Given the description of an element on the screen output the (x, y) to click on. 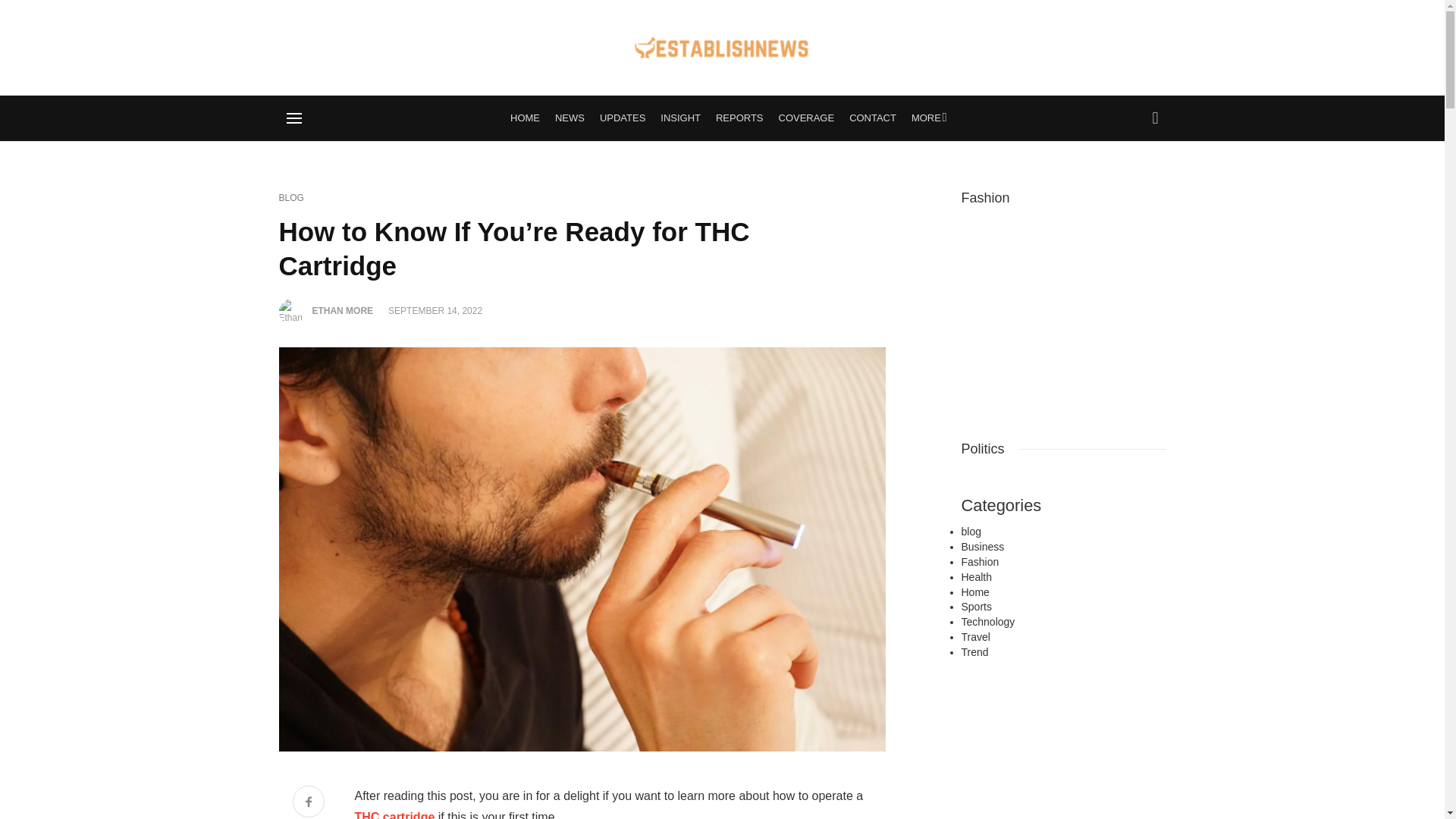
NEWS (569, 117)
Share on Facebook (308, 802)
THC cartridge (395, 814)
REPORTS (739, 117)
HOME (524, 117)
INSIGHT (679, 117)
ETHAN MORE (343, 310)
September 14, 2022 at 8:36 am (434, 310)
BLOG (291, 197)
MORE (927, 117)
